Given the description of an element on the screen output the (x, y) to click on. 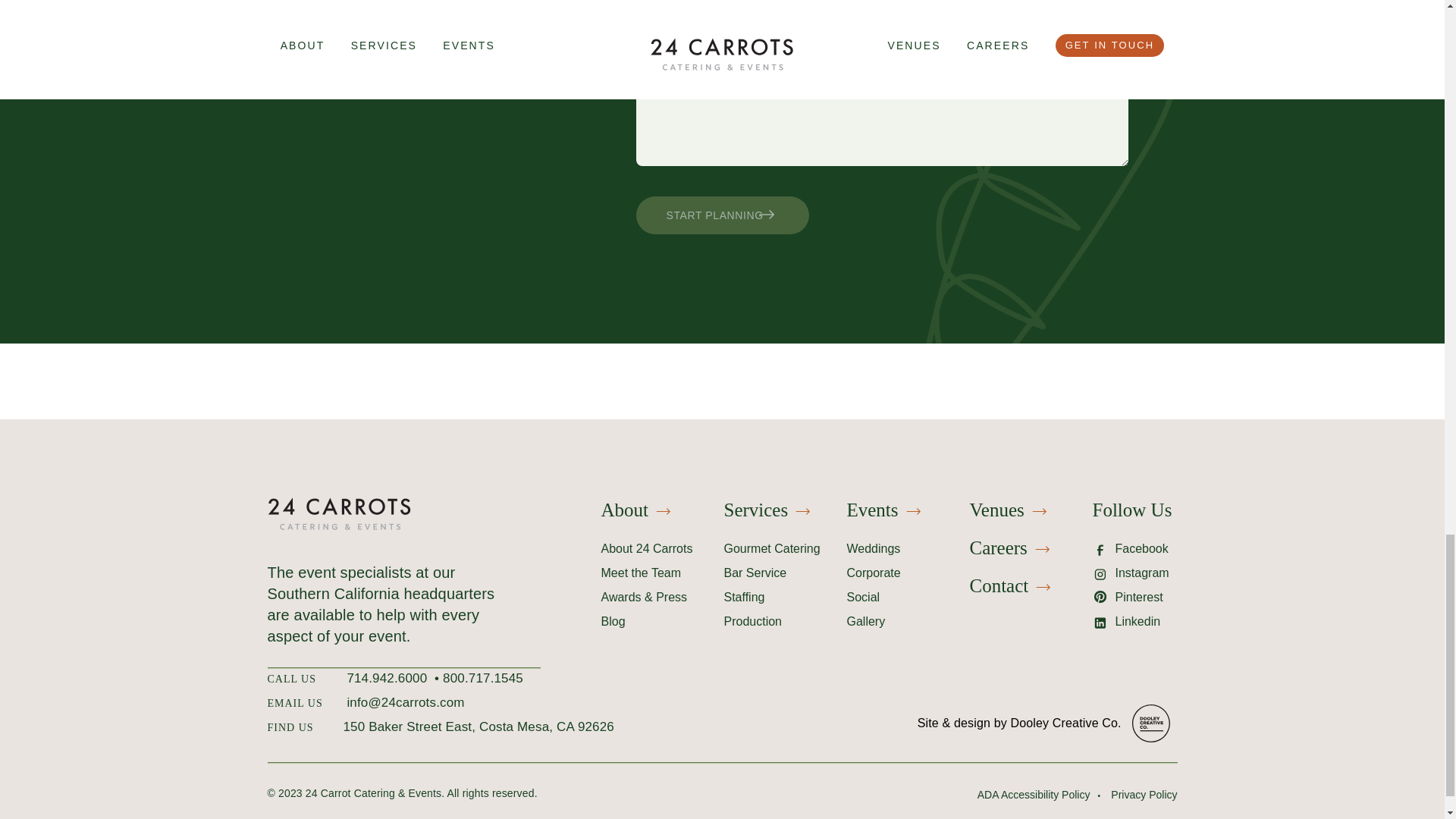
Start Planning (721, 215)
